Given the description of an element on the screen output the (x, y) to click on. 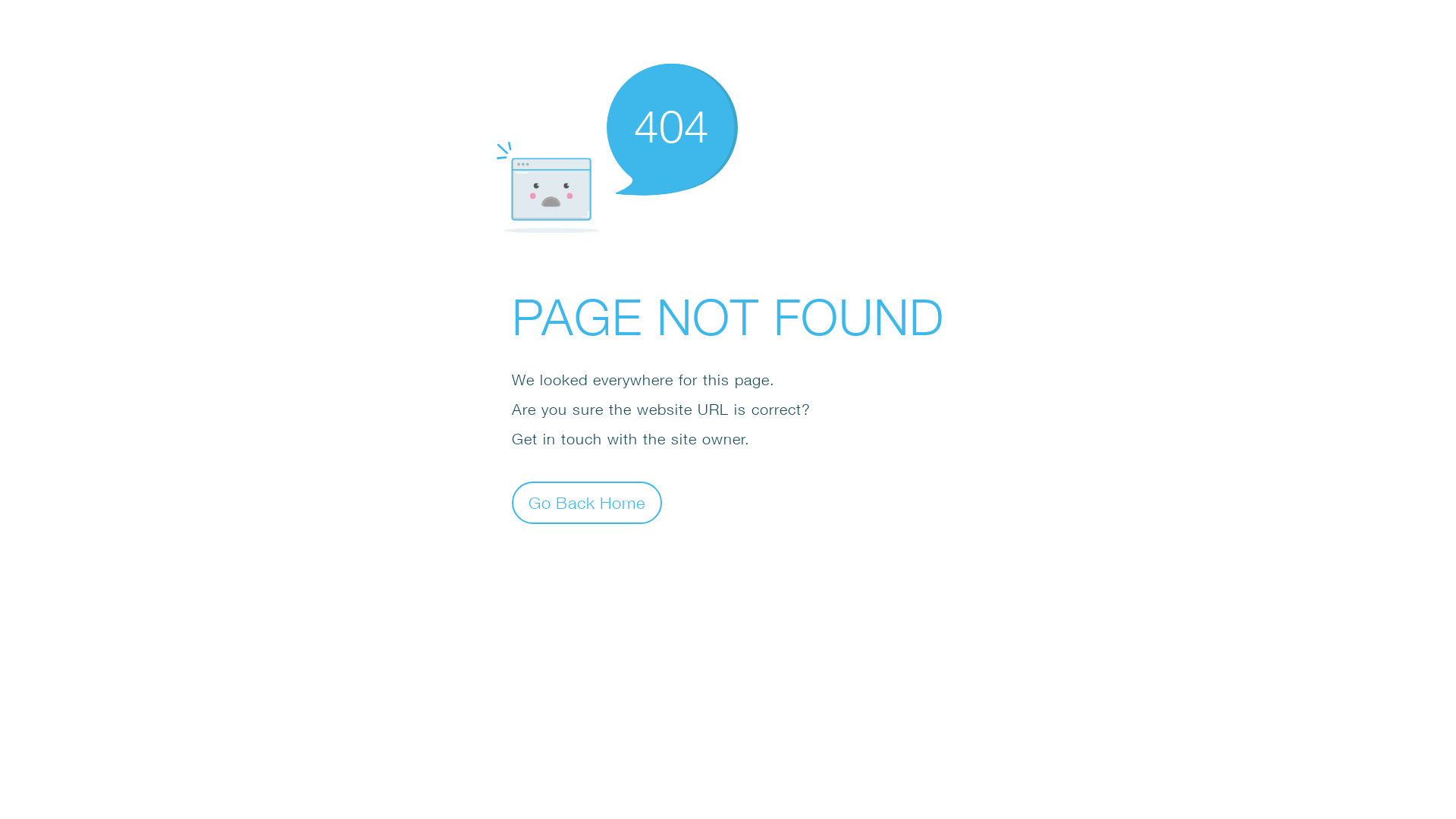
Go Back Home Element type: text (586, 502)
